Given the description of an element on the screen output the (x, y) to click on. 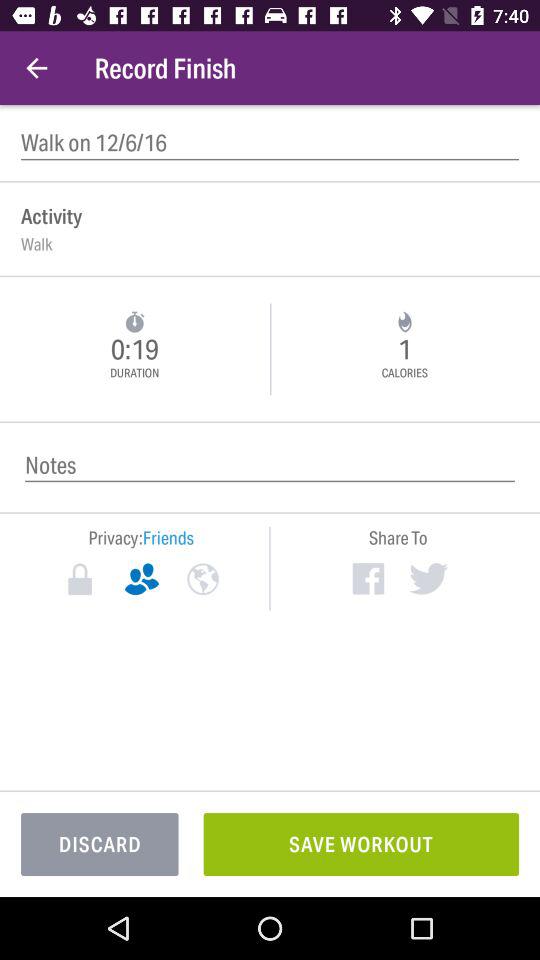
share on twitter (428, 578)
